Given the description of an element on the screen output the (x, y) to click on. 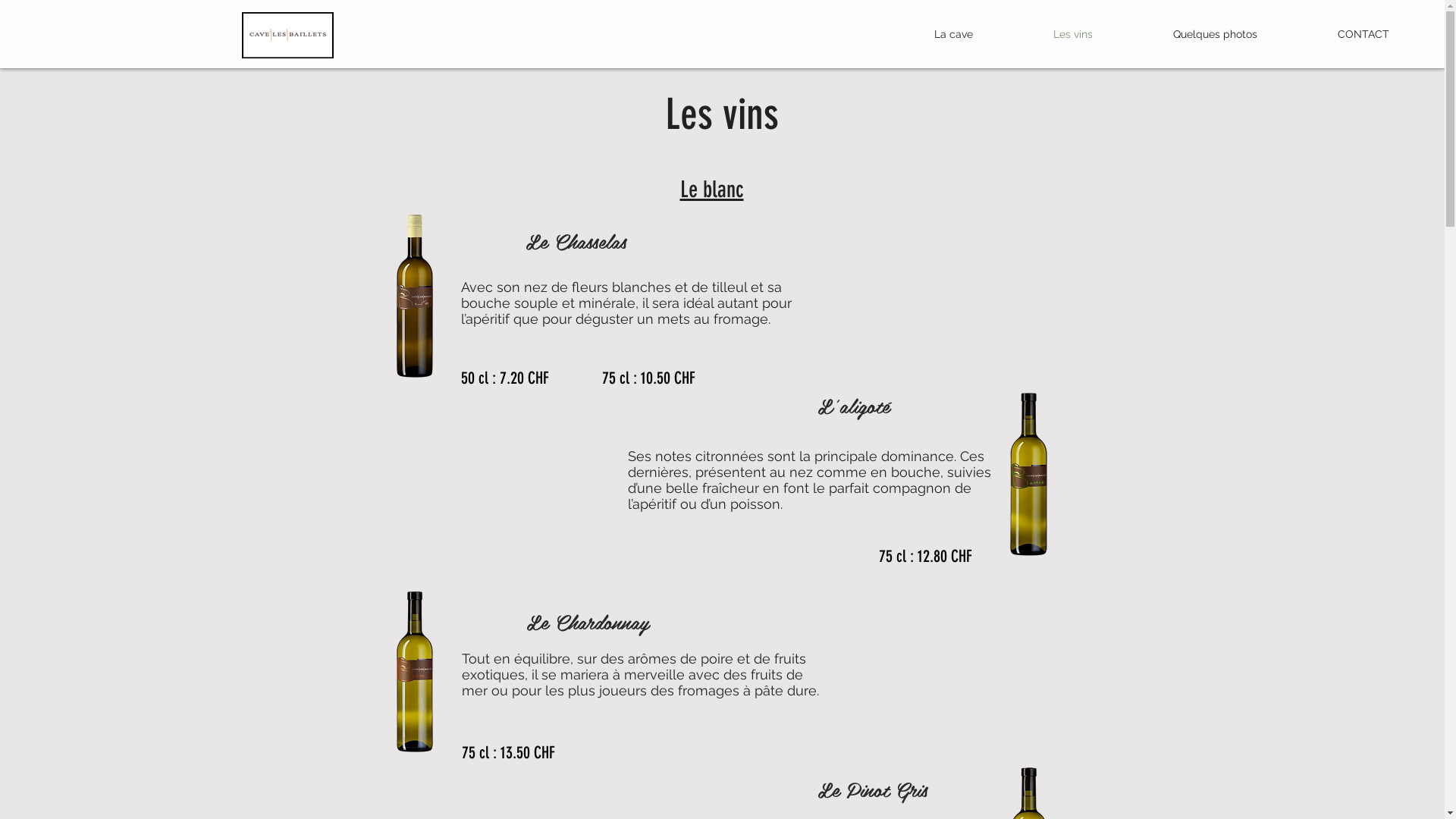
Les vins Element type: text (1072, 34)
La cave Element type: text (953, 34)
CONTACT Element type: text (1363, 34)
Quelques photos Element type: text (1214, 34)
